Given the description of an element on the screen output the (x, y) to click on. 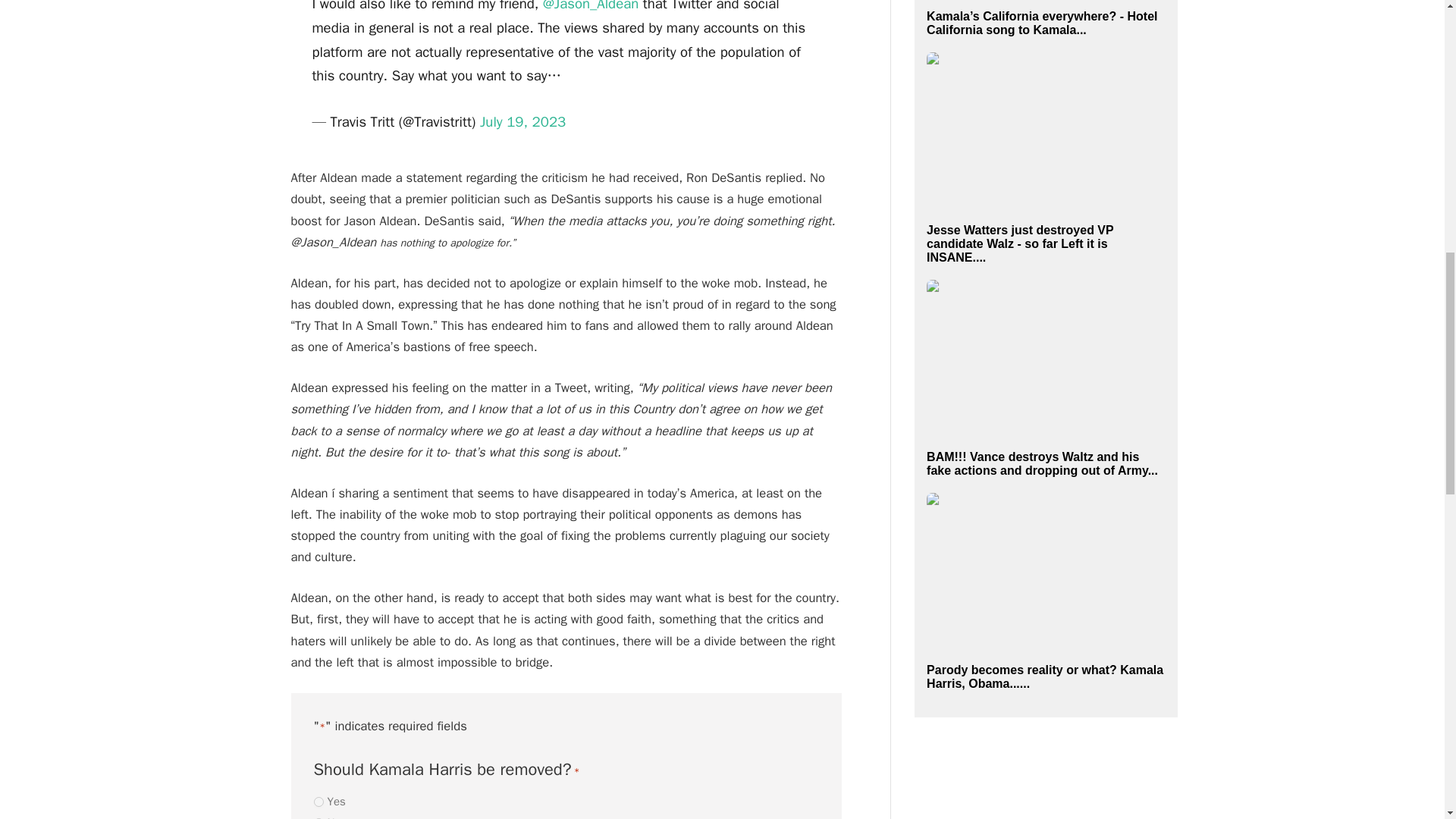
Parody becomes reality or what? Kamala Harris, Obama...... (1045, 677)
July 19, 2023 (523, 122)
gpoll1b5b3d8f6 (318, 801)
